Given the description of an element on the screen output the (x, y) to click on. 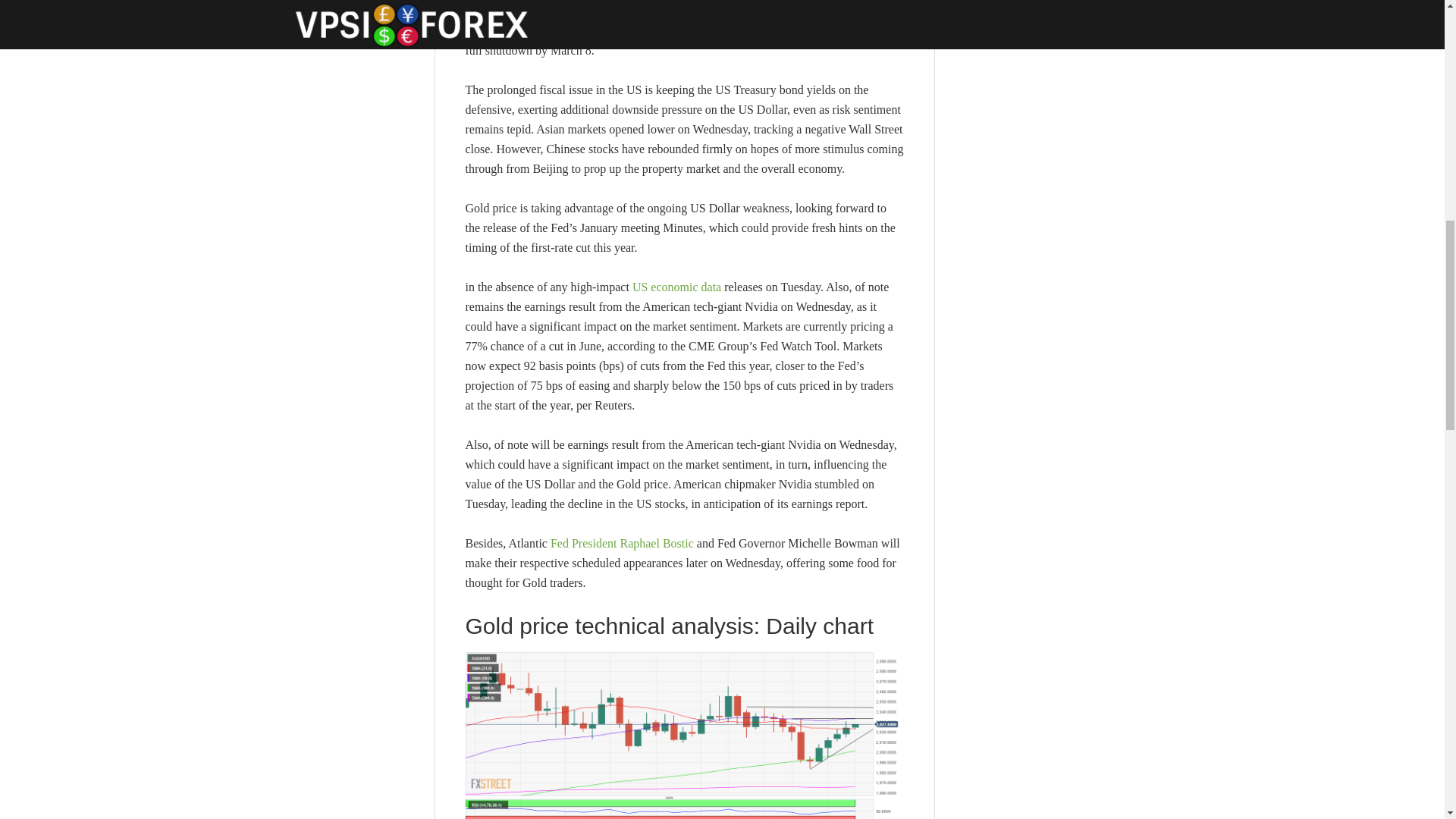
US economic data (675, 286)
Fed President Raphael Bostic (622, 543)
